Given the description of an element on the screen output the (x, y) to click on. 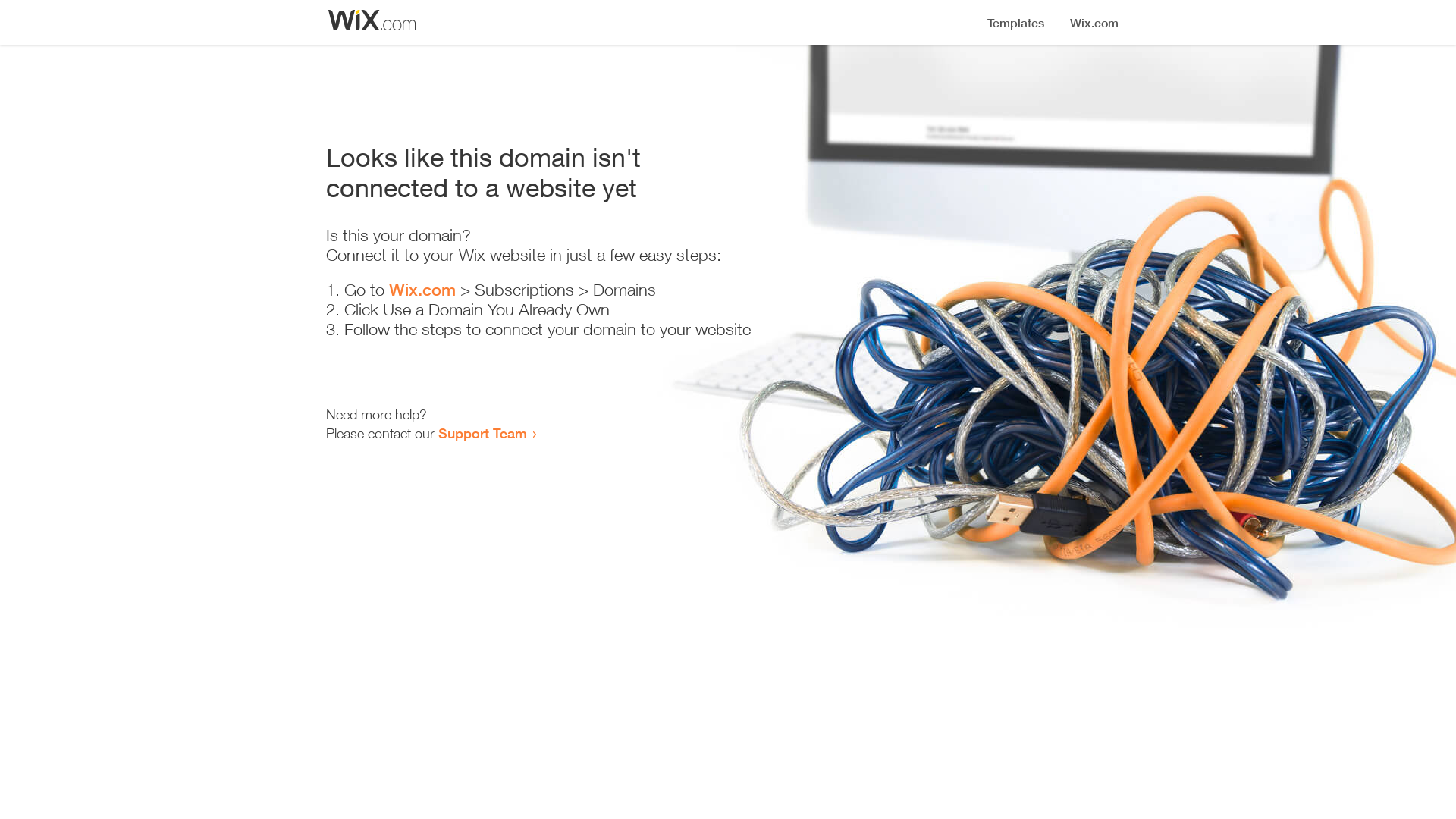
Support Team Element type: text (482, 432)
Wix.com Element type: text (422, 289)
